Given the description of an element on the screen output the (x, y) to click on. 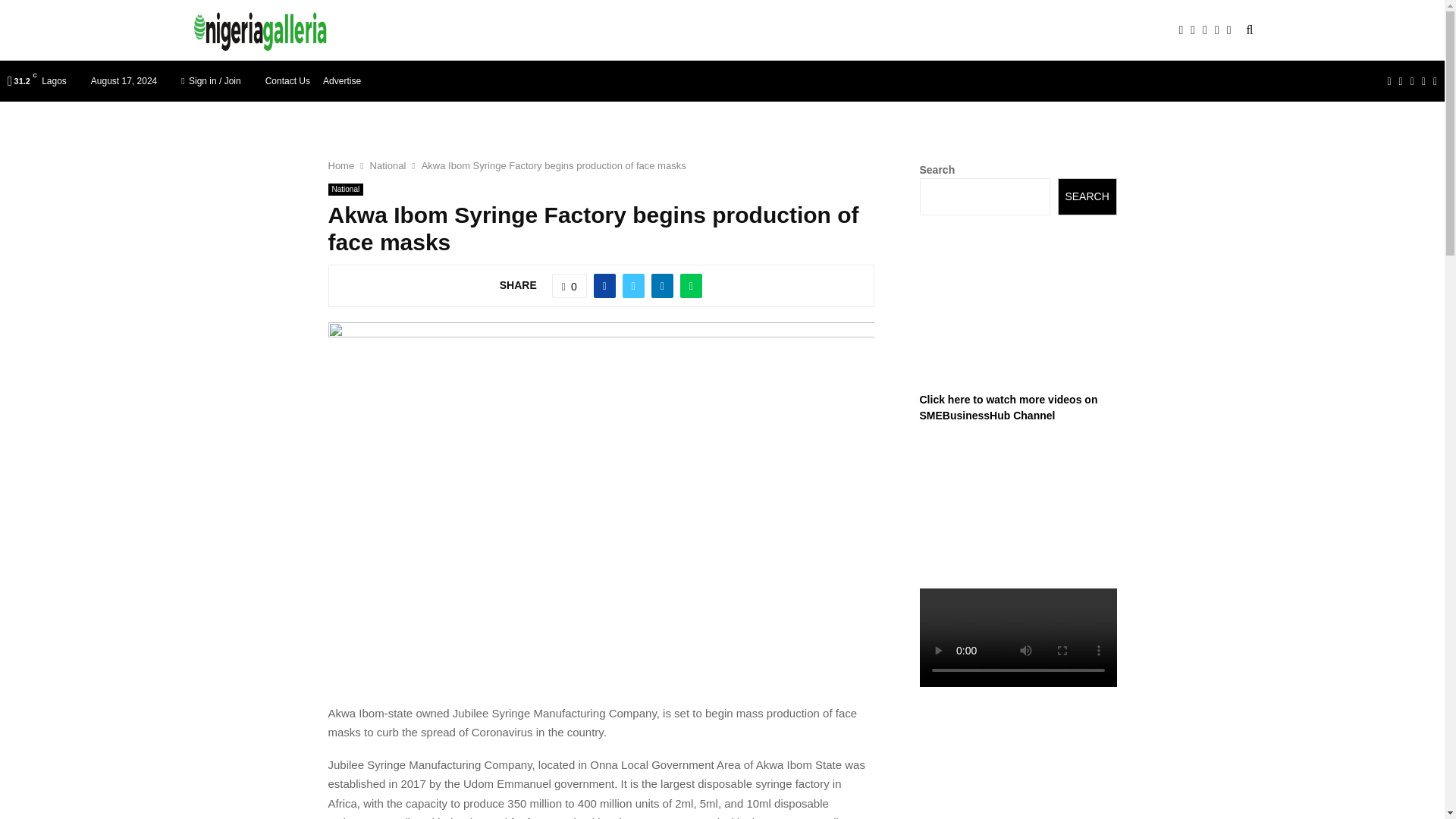
NIGERIA GUIDE (452, 30)
Home (340, 165)
Contact Us (287, 80)
DIRECTORY (547, 30)
National (387, 165)
Akwa Ibom Syringe Factory begins production of face masks (553, 165)
Advertise (342, 80)
Like (568, 285)
National (344, 189)
Login to your account (722, 328)
